Given the description of an element on the screen output the (x, y) to click on. 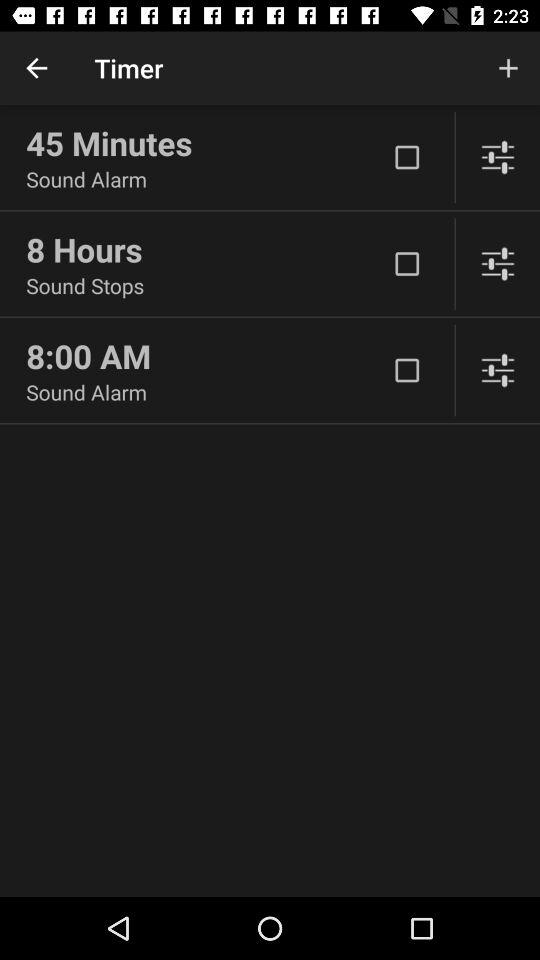
press icon next to timer app (36, 68)
